Given the description of an element on the screen output the (x, y) to click on. 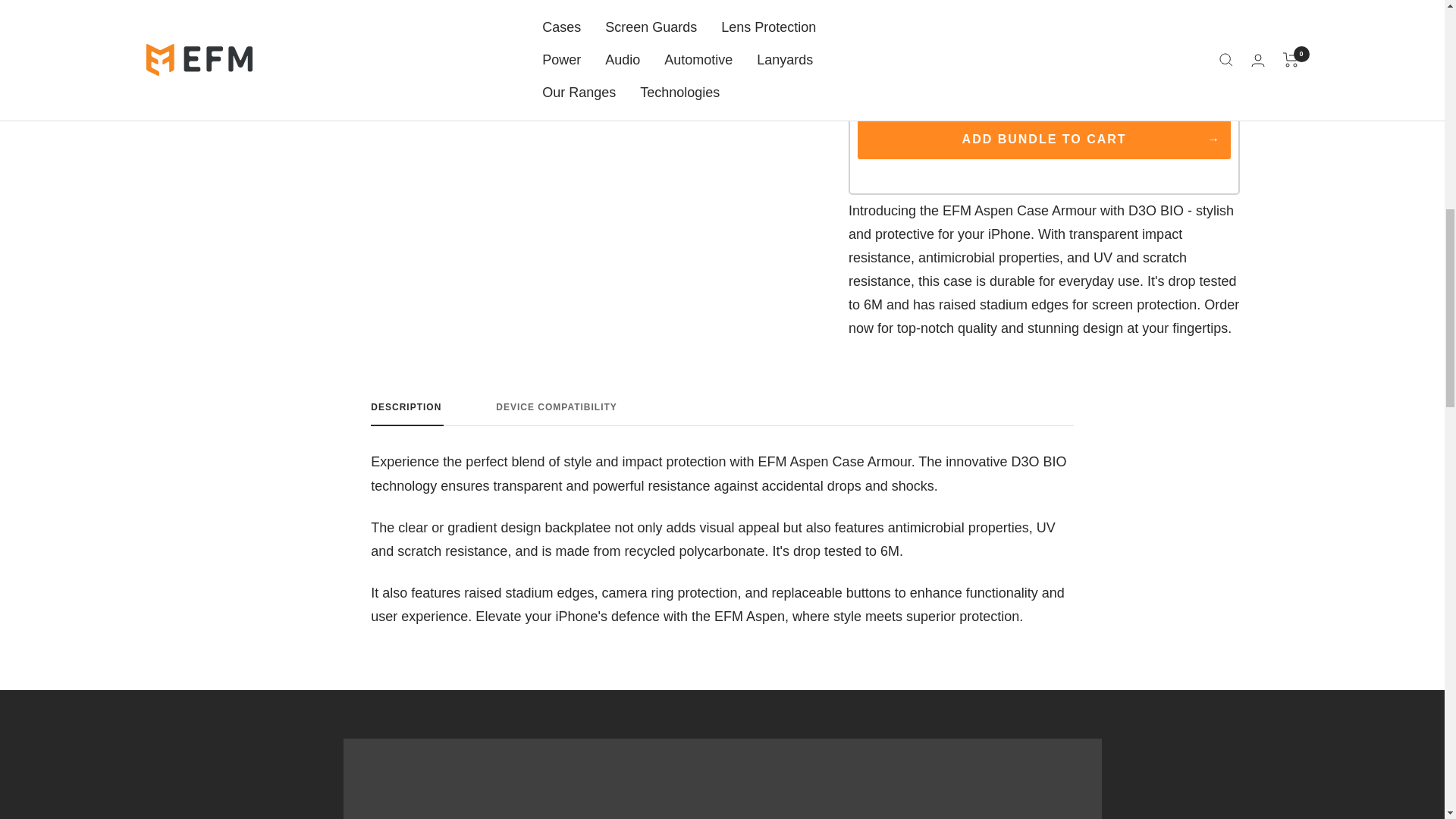
on (1222, 70)
on (722, 414)
on (1091, 70)
